Given the description of an element on the screen output the (x, y) to click on. 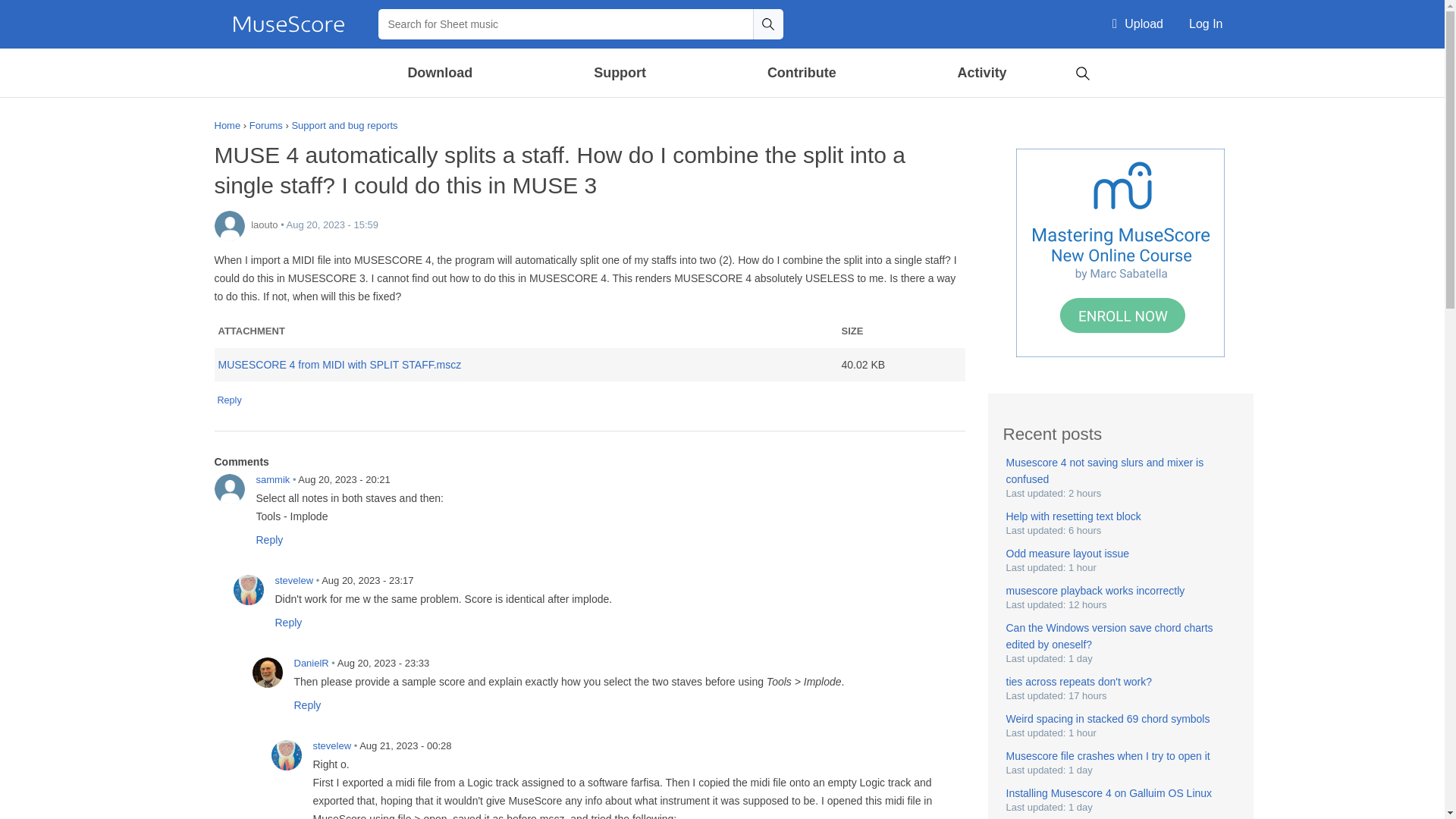
Search (1082, 71)
sammik (229, 489)
MuseScore (287, 23)
Support (619, 72)
stevelew (285, 755)
laouto (229, 225)
Upload (1137, 24)
Search (767, 24)
Contribute (801, 72)
stevelew (247, 589)
Activity (981, 72)
Home (287, 23)
DanielR (266, 672)
Log In (1205, 24)
